Given the description of an element on the screen output the (x, y) to click on. 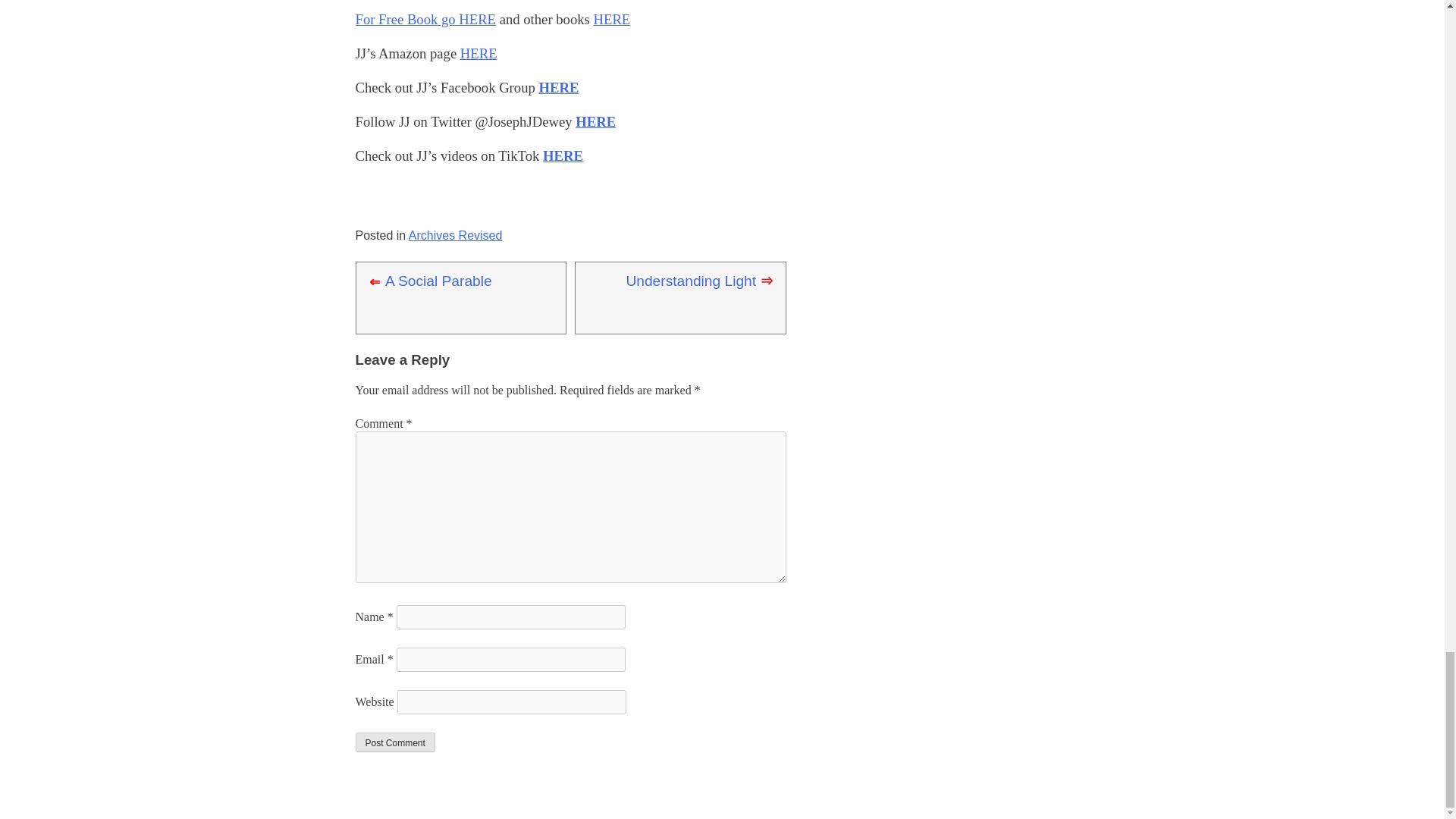
Post Comment (394, 742)
HERE (558, 87)
A Social Parable (438, 280)
Archives Revised (455, 235)
For Free Book go HERE (425, 19)
Understanding Light (690, 280)
HERE (612, 19)
HERE (595, 121)
Post Comment (394, 742)
HERE (563, 155)
HERE (478, 53)
